Given the description of an element on the screen output the (x, y) to click on. 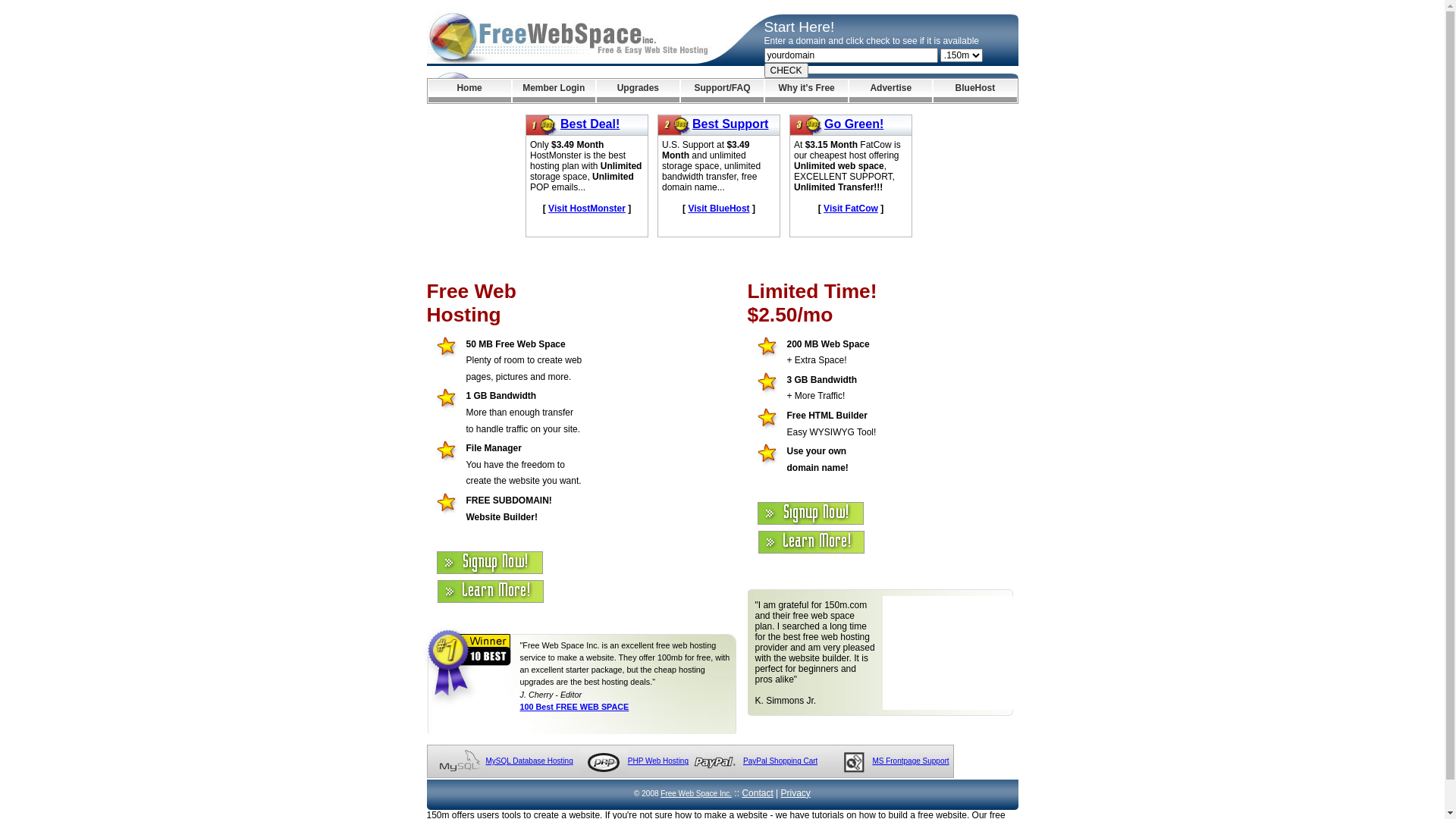
Member Login Element type: text (553, 90)
Upgrades Element type: text (637, 90)
Home Element type: text (468, 90)
Privacy Element type: text (795, 792)
Support/FAQ Element type: text (721, 90)
MS Frontpage Support Element type: text (910, 760)
PHP Web Hosting Element type: text (657, 760)
CHECK Element type: text (786, 70)
MySQL Database Hosting Element type: text (528, 760)
Contact Element type: text (756, 792)
100 Best FREE WEB SPACE Element type: text (574, 706)
Why it's Free Element type: text (806, 90)
Free Web Space Inc. Element type: text (695, 793)
BlueHost Element type: text (974, 90)
Advertise Element type: text (890, 90)
PayPal Shopping Cart Element type: text (780, 760)
